Given the description of an element on the screen output the (x, y) to click on. 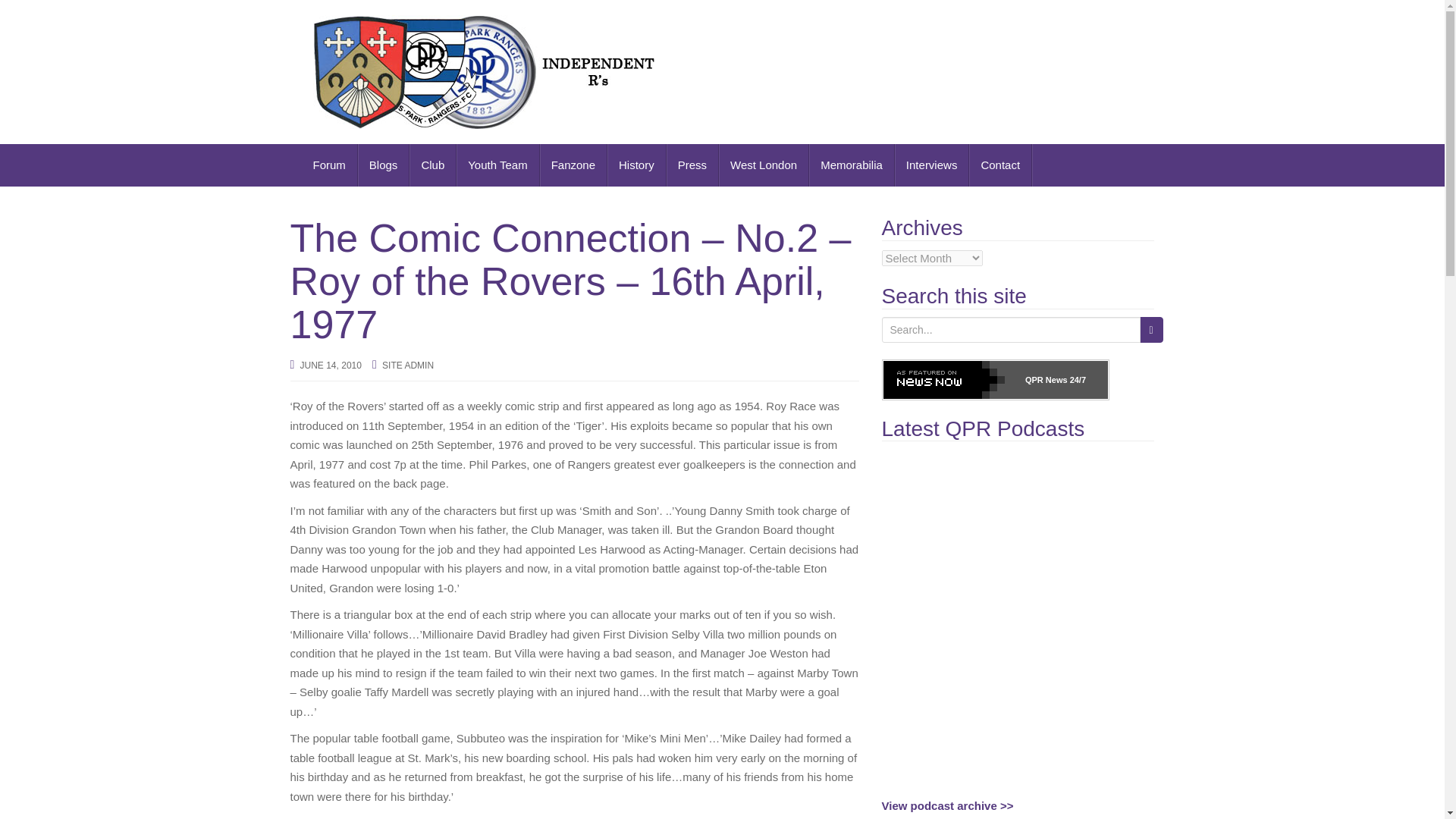
Forum (329, 165)
Club (433, 165)
West London (764, 165)
Youth Team (497, 165)
Club (433, 165)
Press (692, 165)
Contact (1000, 165)
Fanzone (573, 165)
QPR News (1046, 379)
Press (692, 165)
Memorabilia (852, 165)
Contact (1000, 165)
Forum (329, 165)
Interviews (932, 165)
SITE ADMIN (407, 365)
